Given the description of an element on the screen output the (x, y) to click on. 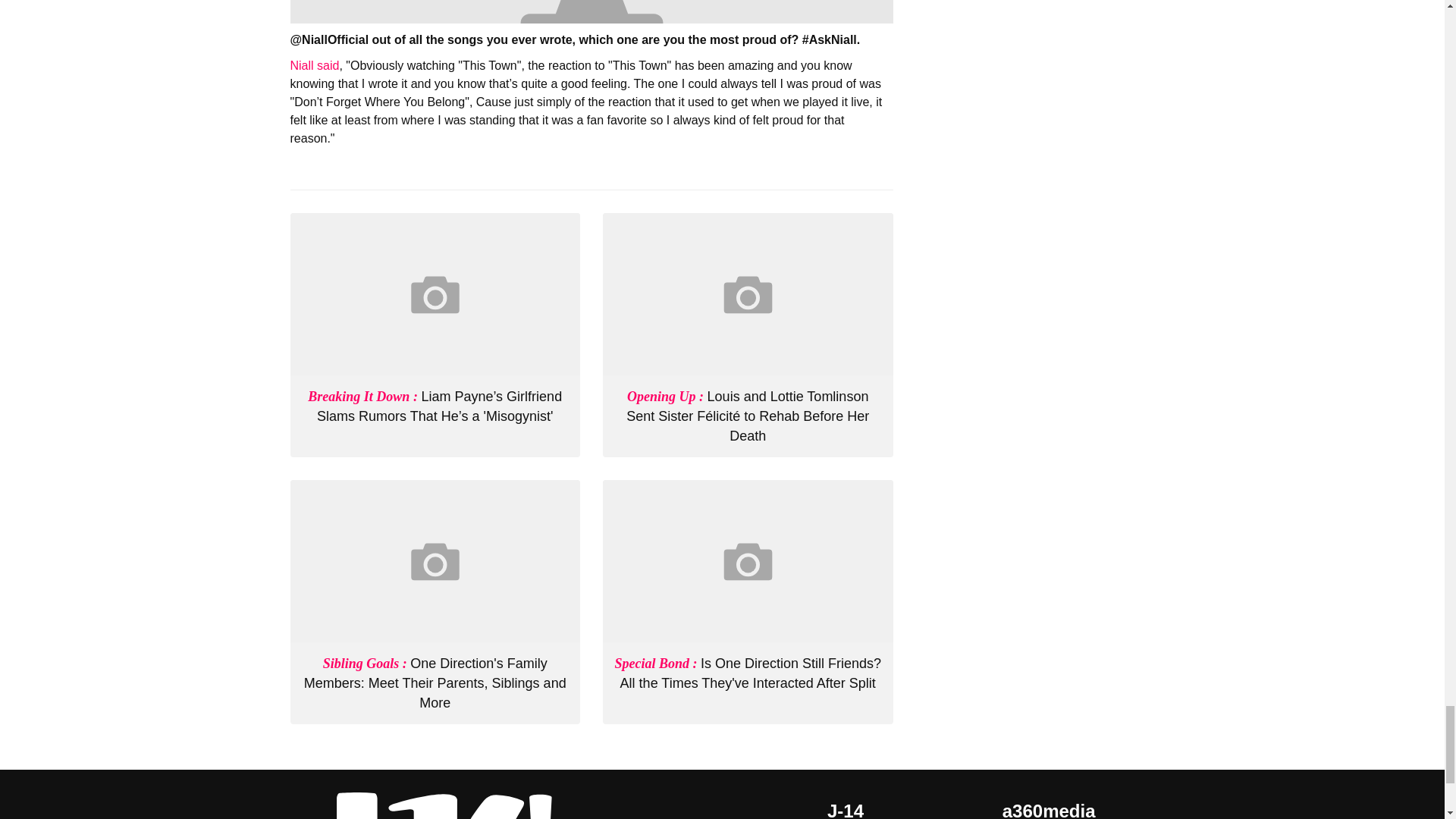
Home (434, 805)
Niall said (314, 65)
